Given the description of an element on the screen output the (x, y) to click on. 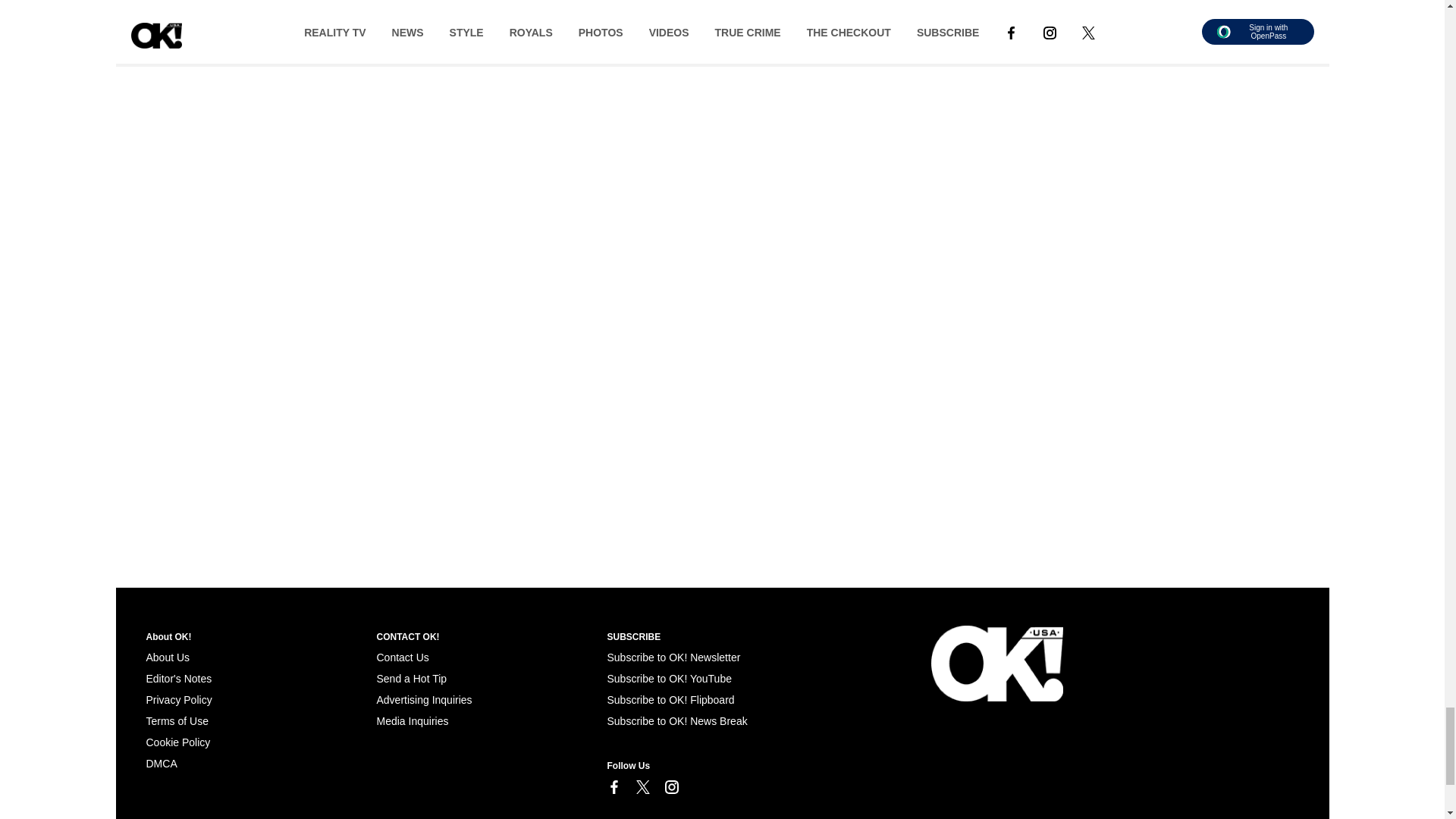
Contact Us (401, 657)
Subscribe to OK! Flipboard (670, 699)
Subscribe to OK! Newsletter (673, 657)
Cookie Policy (177, 742)
Privacy Policy (178, 699)
Advertising Inquiries (423, 699)
Media Inquiries (411, 720)
Advertising Inquiries (423, 699)
Cookie Policy (160, 763)
Link to Facebook (613, 789)
Subscribe to OK! YouTube (668, 678)
Terms of Use (176, 720)
Privacy Policy (178, 699)
Link to Instagram (670, 789)
Editor's Notes (178, 678)
